Given the description of an element on the screen output the (x, y) to click on. 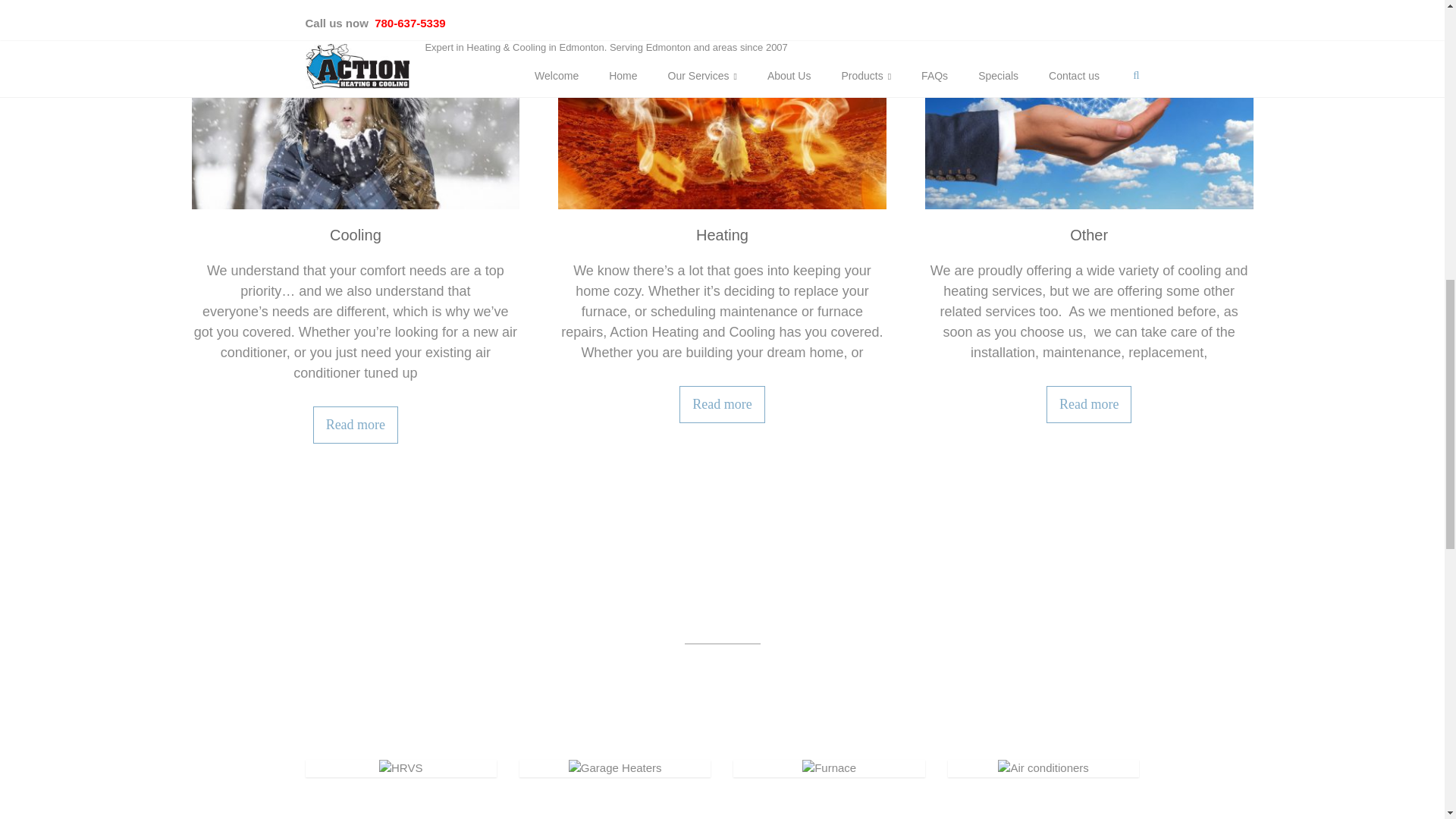
Other (1088, 104)
Cooling (355, 234)
Read more (354, 424)
Heating (721, 234)
Heating (721, 234)
Other (1088, 2)
Cooling (354, 424)
Read more (1088, 404)
Cooling (354, 2)
Read more (721, 404)
